Given the description of an element on the screen output the (x, y) to click on. 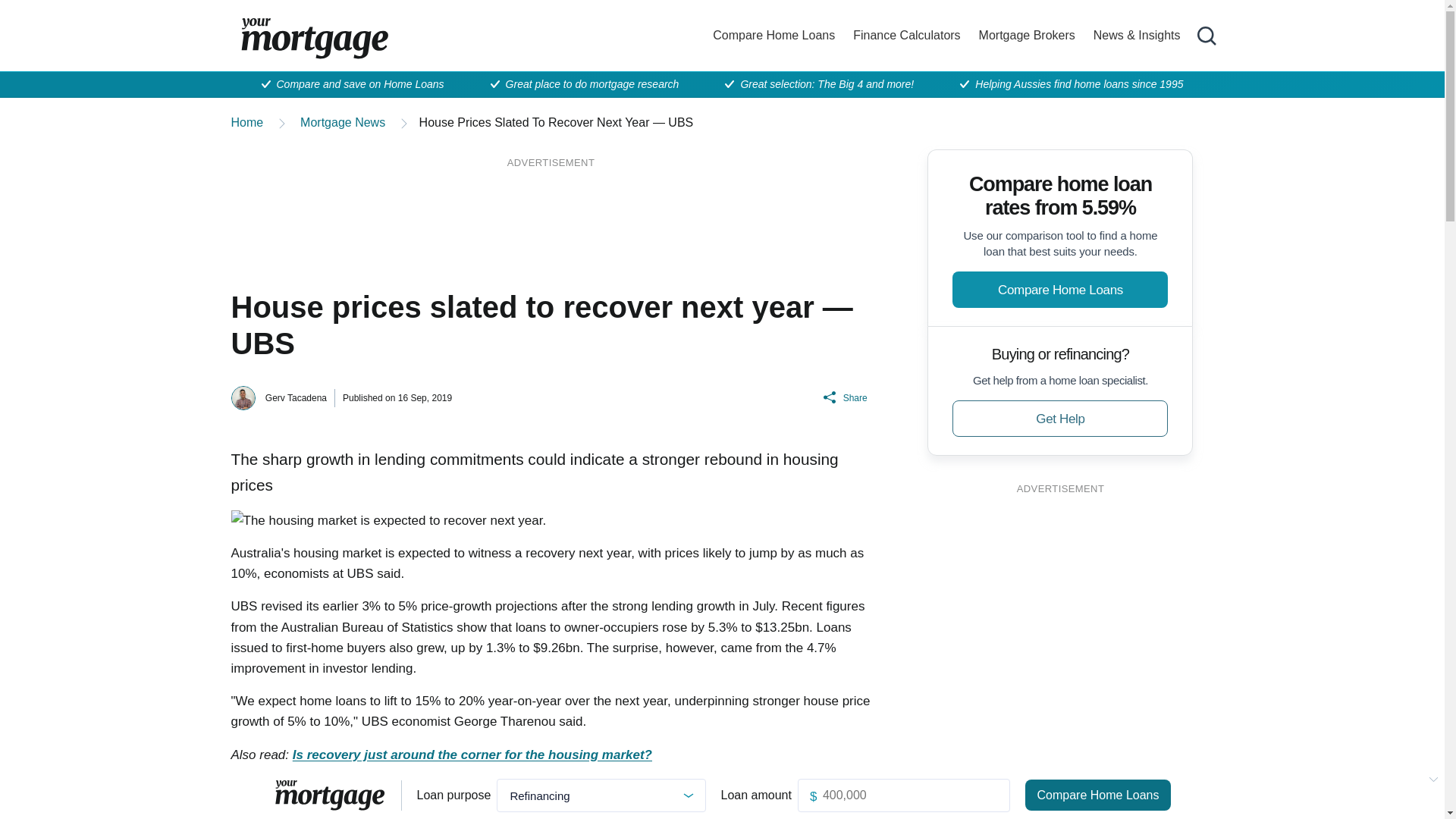
3rd party ad content (551, 212)
Posts by Gerv Tacadena (295, 398)
3rd party ad content (1059, 599)
